Given the description of an element on the screen output the (x, y) to click on. 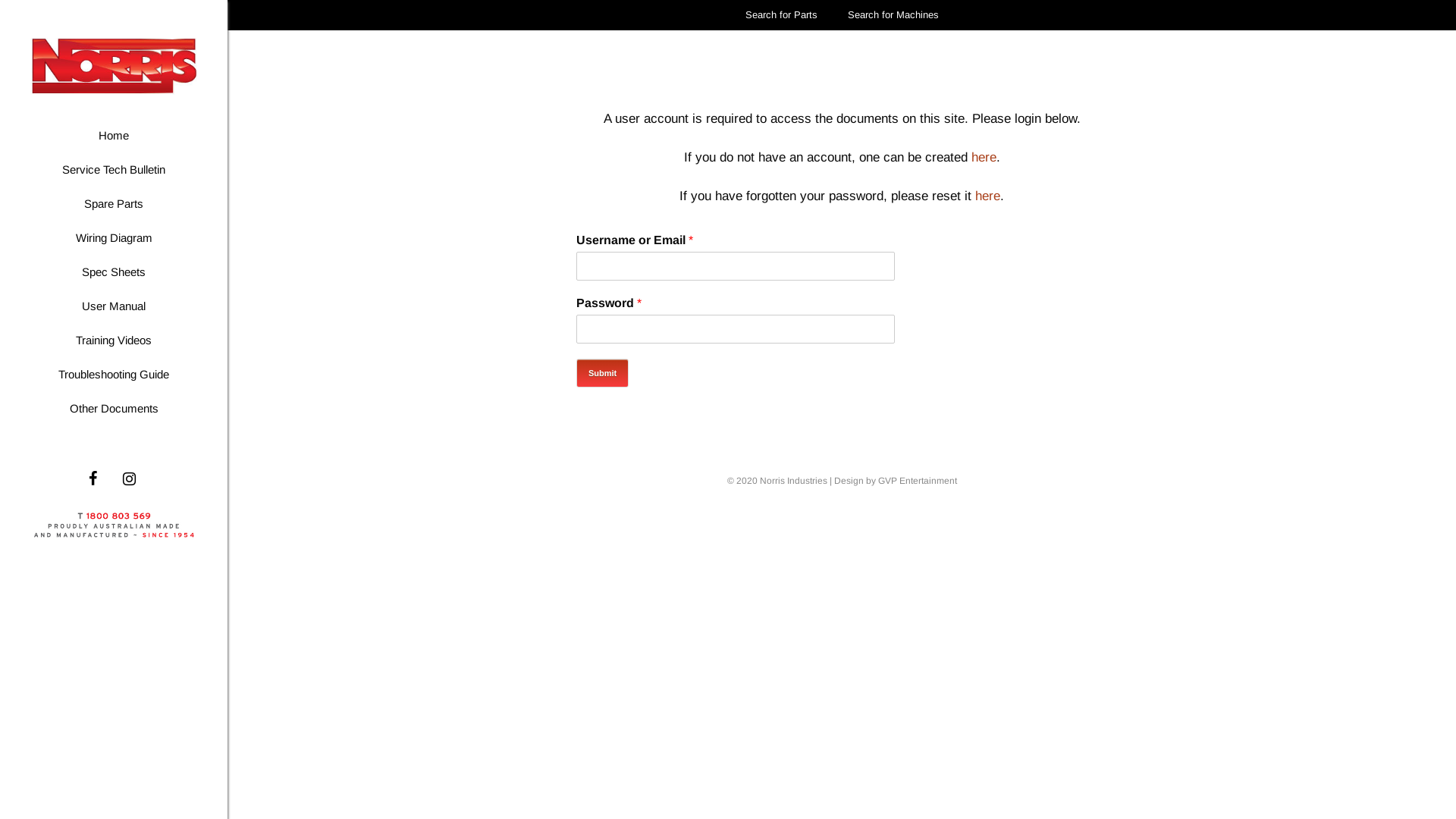
Troubleshooting Guide Element type: text (113, 374)
User Manual Element type: text (113, 305)
Instagram Element type: hover (128, 479)
Service Tech Bulletin Element type: text (113, 169)
Wiring Diagram Element type: text (113, 237)
Other Documents Element type: text (113, 408)
Submit Element type: text (602, 373)
Spare Parts Element type: text (113, 203)
Search for Parts Element type: text (780, 15)
here Element type: text (982, 157)
Home Element type: text (113, 135)
Spec Sheets Element type: text (113, 271)
here Element type: text (987, 195)
Training Videos Element type: text (113, 340)
Search for Machines Element type: text (892, 15)
Facebook Element type: hover (92, 479)
